Given the description of an element on the screen output the (x, y) to click on. 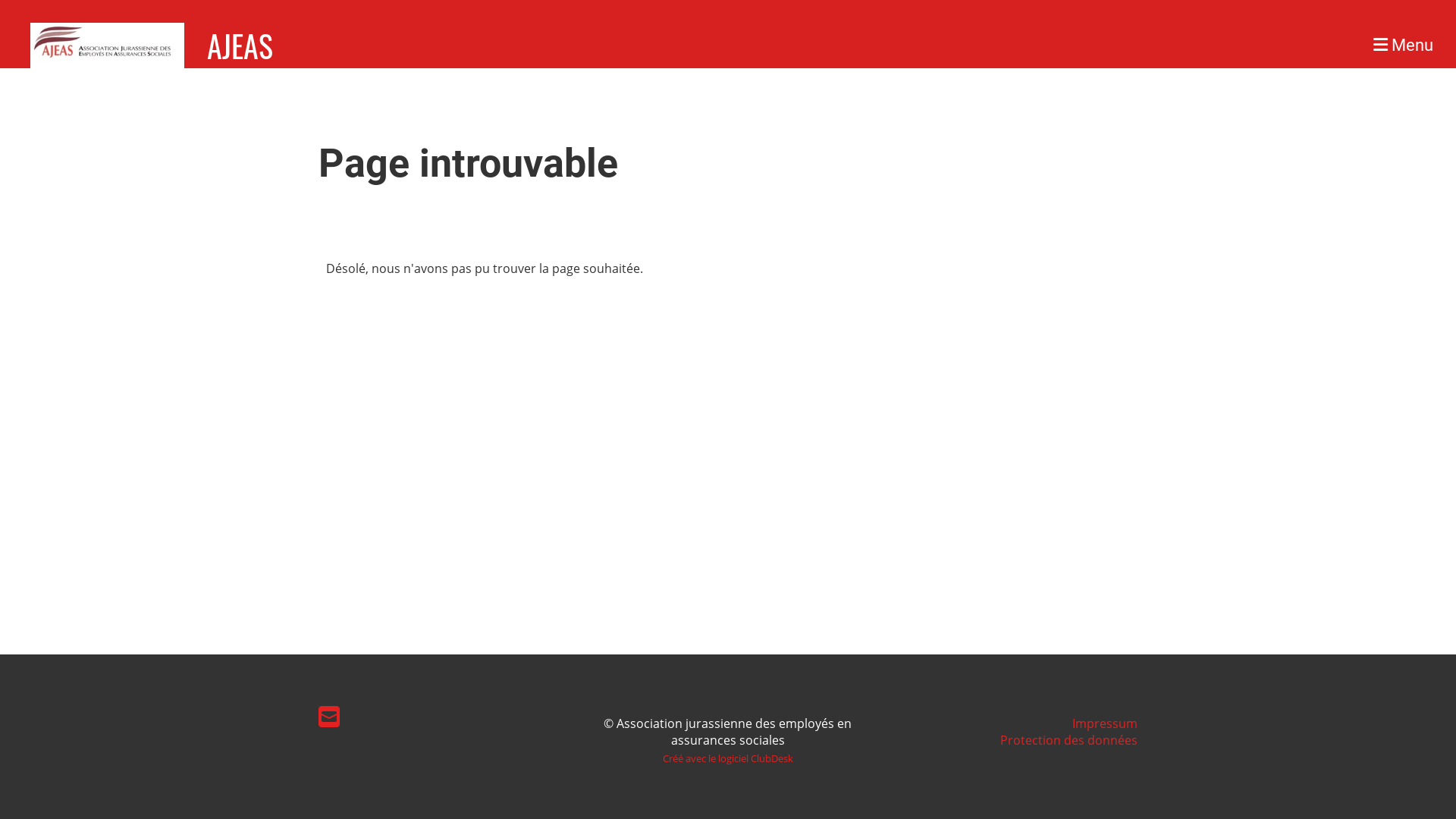
AJEAS Element type: text (240, 45)
Impressum Element type: text (1104, 723)
Menu Element type: text (1403, 45)
